Given the description of an element on the screen output the (x, y) to click on. 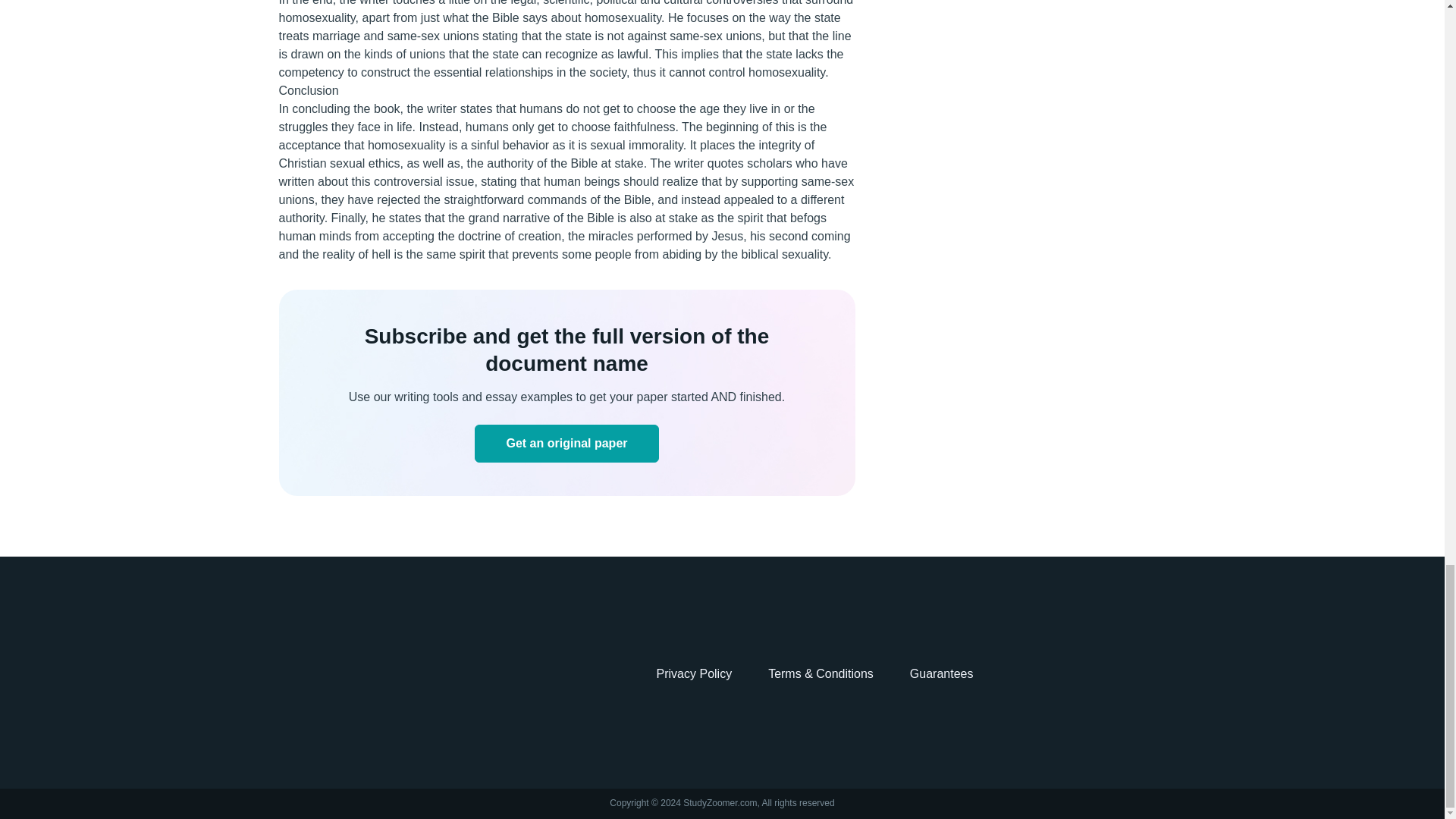
Subscribe (566, 443)
Guarantees (942, 674)
Get an original paper (566, 443)
Privacy Policy (694, 674)
Study Zoomer (333, 674)
